Given the description of an element on the screen output the (x, y) to click on. 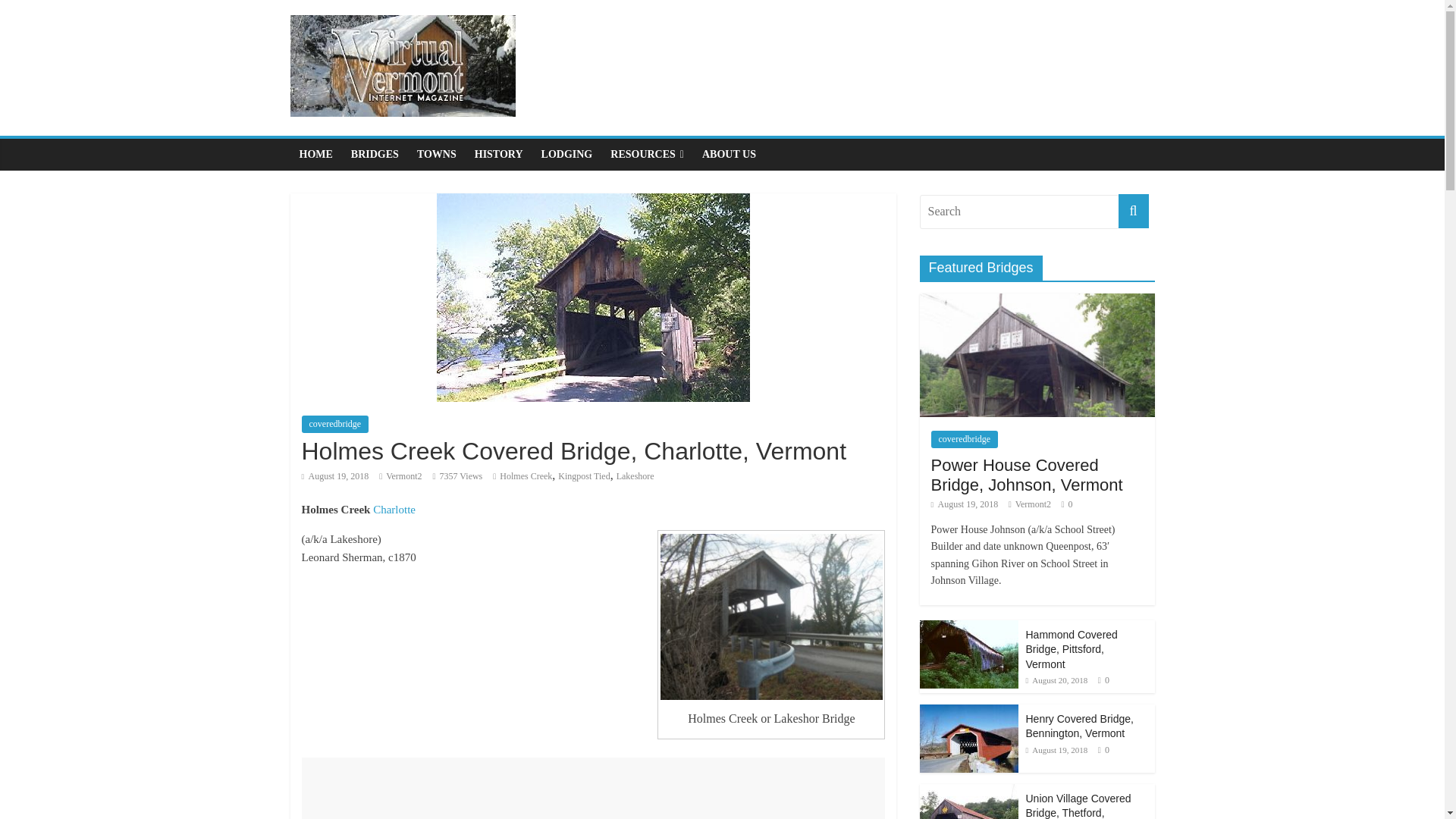
3:26 pm (335, 475)
Advertisement (593, 788)
Holmes Creek (525, 475)
RESOURCES (647, 154)
August 19, 2018 (335, 475)
Lakeshore (634, 475)
TOWNS (436, 154)
Vermont2 (403, 475)
Kingpost Tied (583, 475)
Charlotte (393, 509)
